Given the description of an element on the screen output the (x, y) to click on. 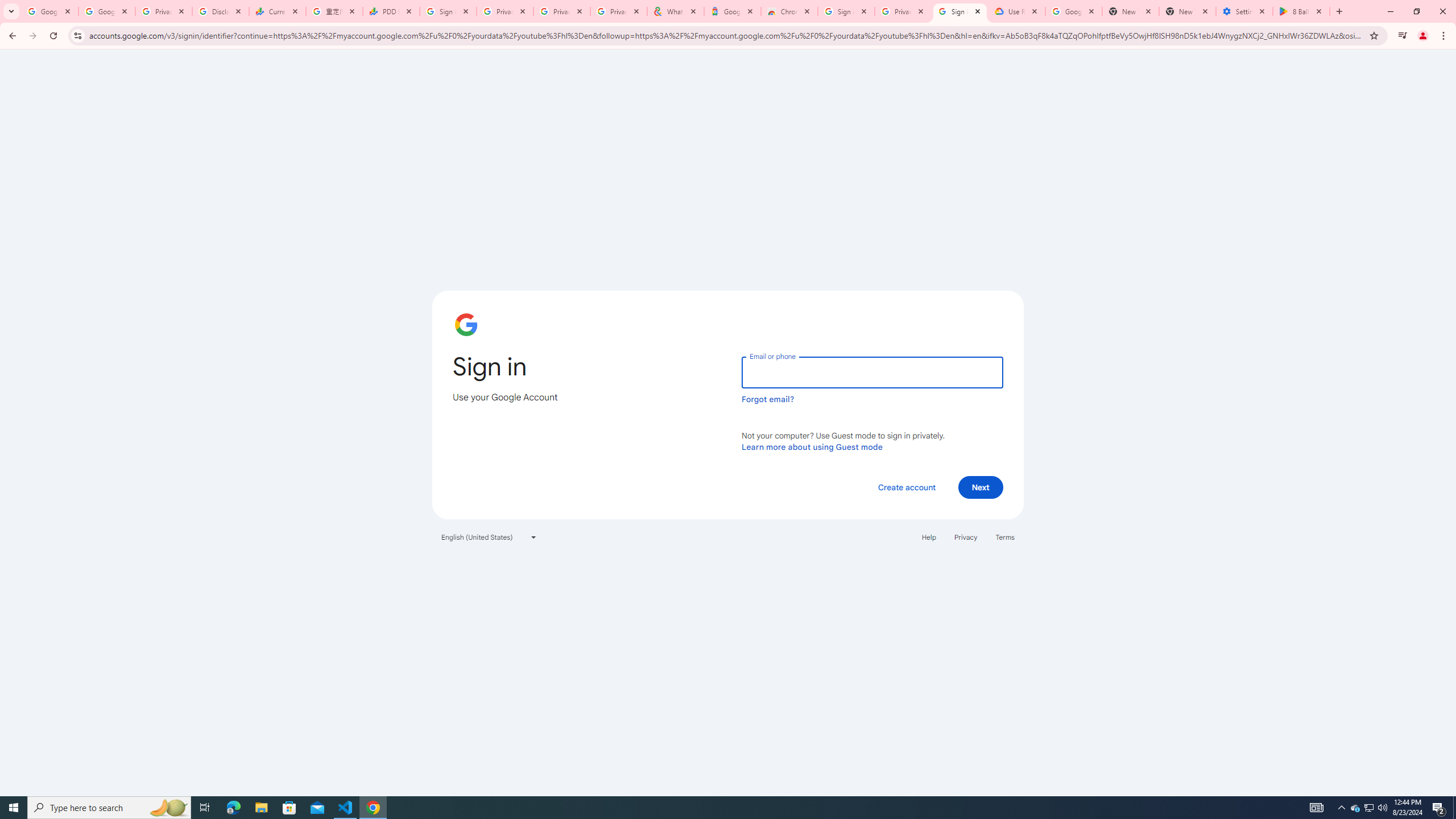
Email or phone (871, 372)
New Tab (1187, 11)
English (United States) (489, 536)
Learn more about using Guest mode (812, 446)
Create account (905, 486)
Sign in - Google Accounts (959, 11)
